Given the description of an element on the screen output the (x, y) to click on. 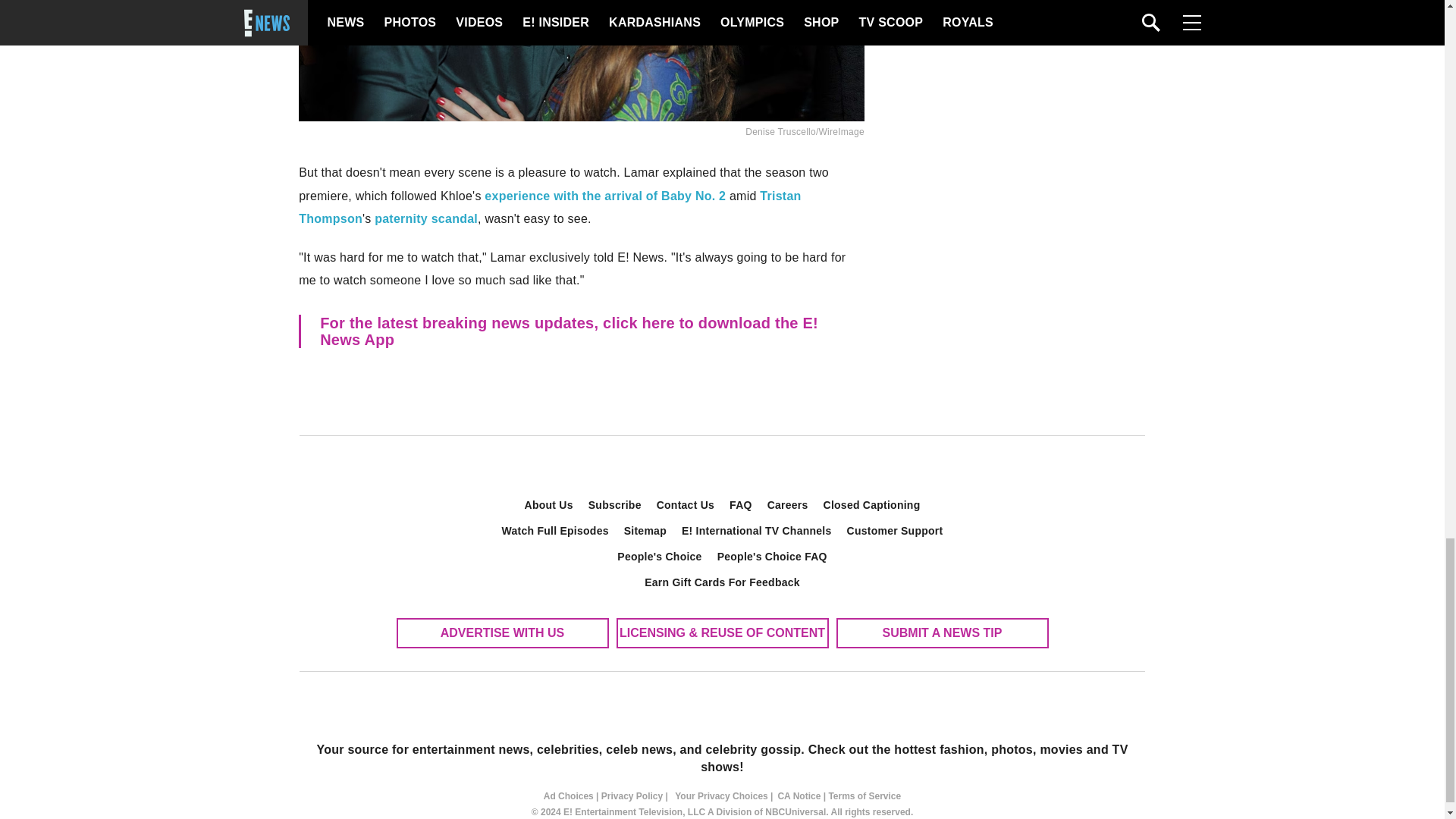
Tristan Thompson (549, 207)
paternity scandal (425, 218)
experience with the arrival of Baby No. 2 (604, 195)
